Given the description of an element on the screen output the (x, y) to click on. 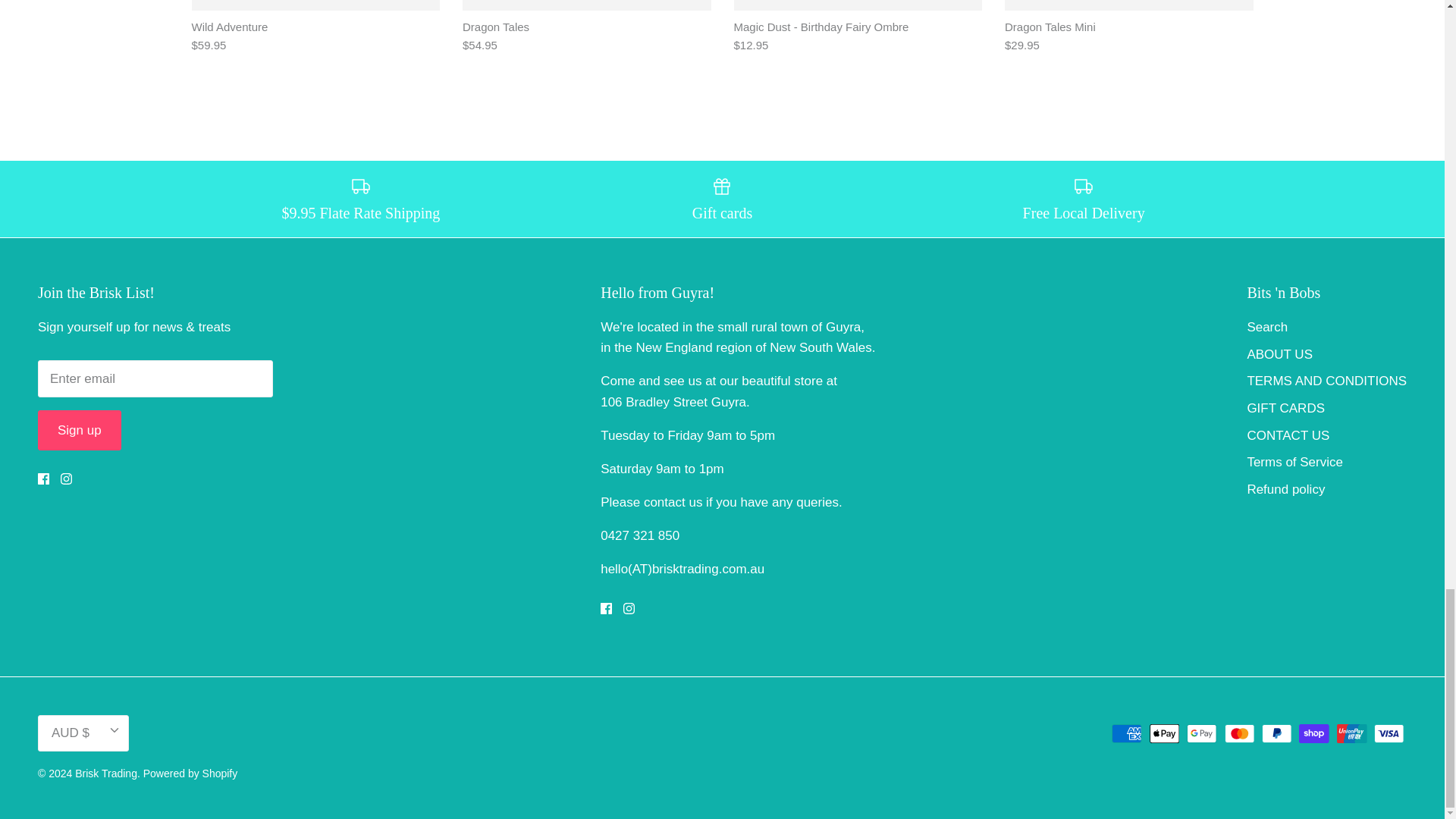
Instagram (66, 478)
Facebook (43, 478)
Facebook (605, 608)
Instagram (628, 608)
